Given the description of an element on the screen output the (x, y) to click on. 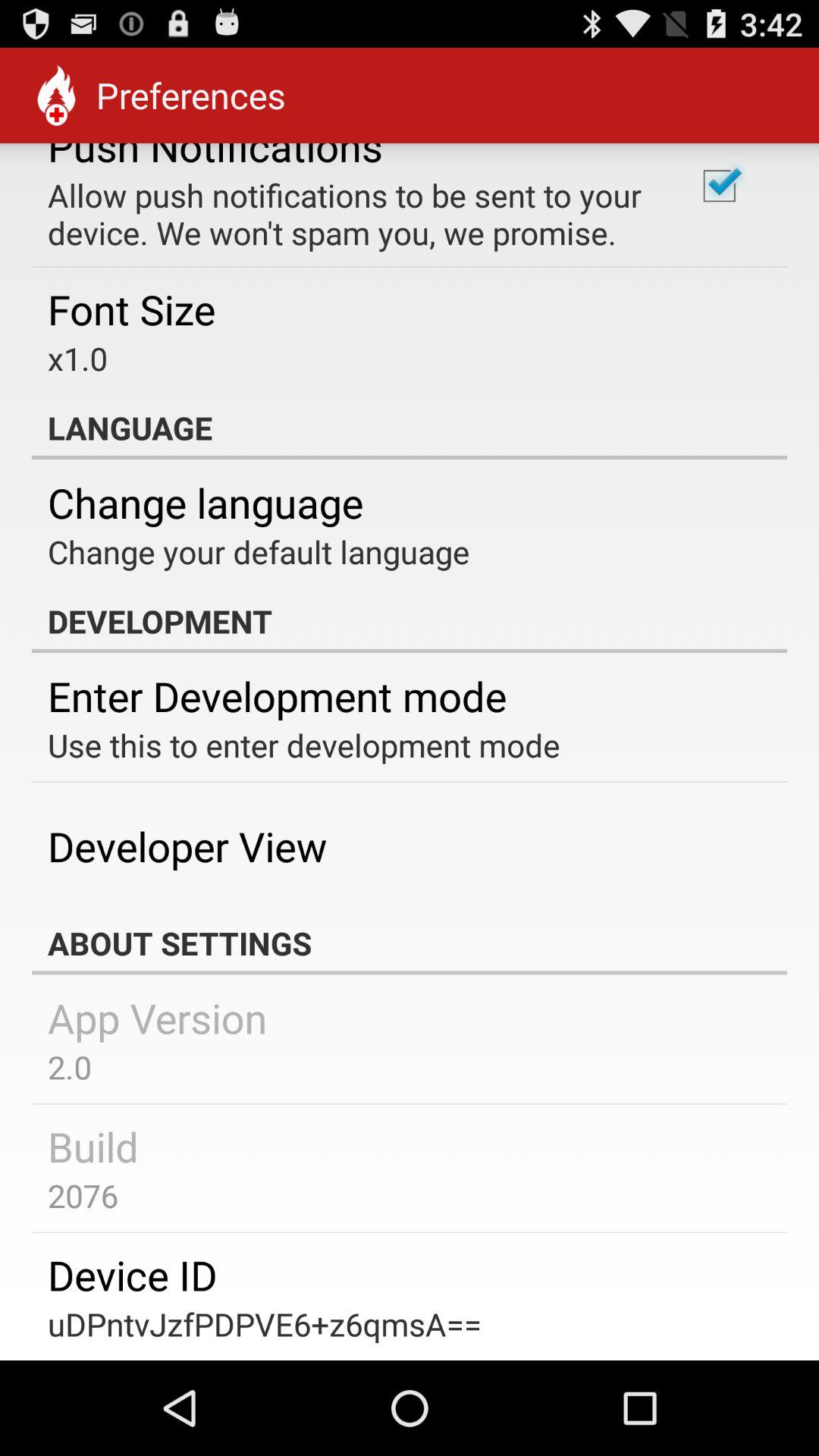
swipe to about settings (409, 942)
